Given the description of an element on the screen output the (x, y) to click on. 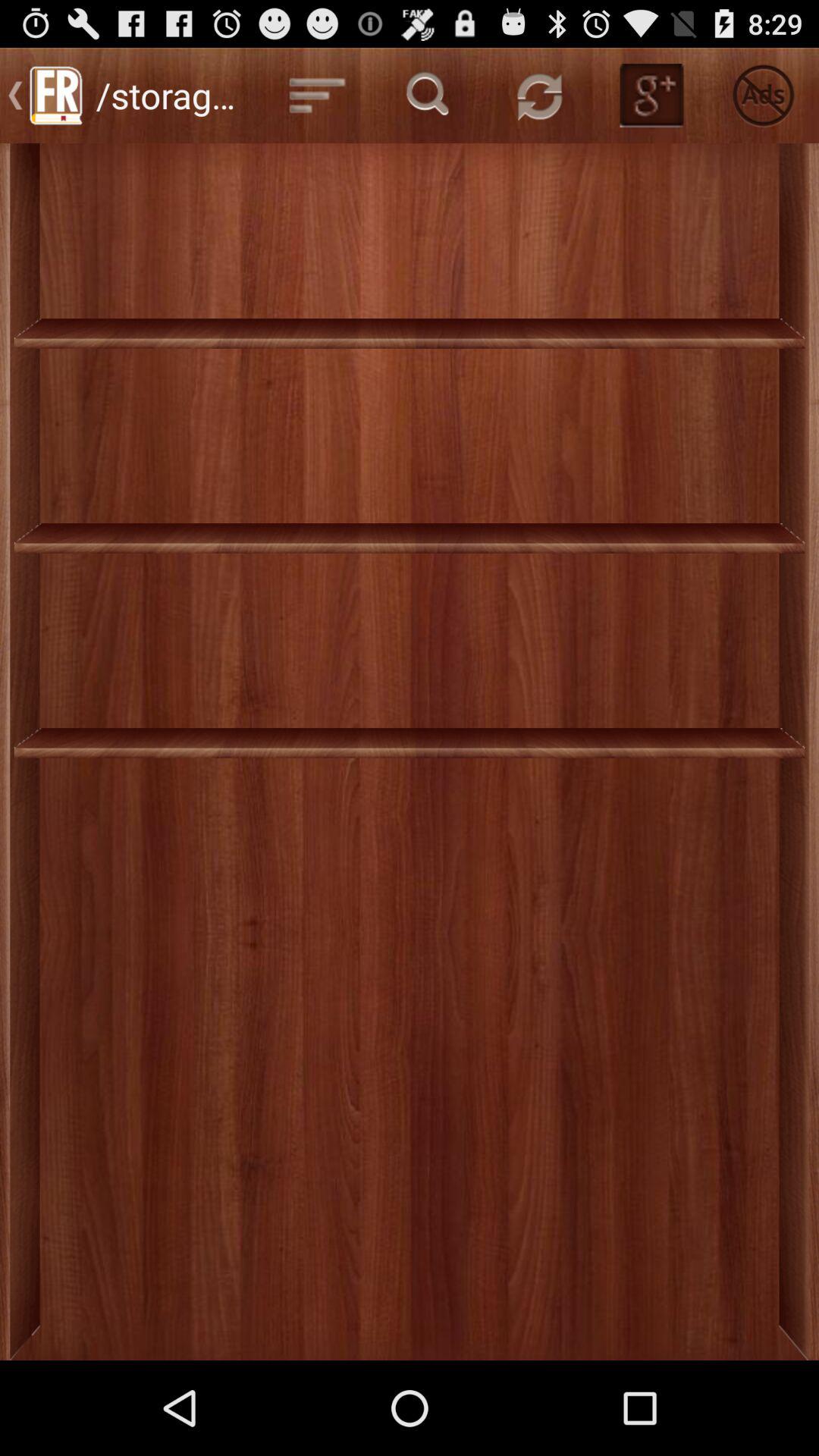
click on reload icon (540, 95)
select search button (428, 95)
click on no ads icon (763, 95)
the first button beside storage (317, 95)
select g button at the top of the page (651, 95)
select the icon which is left side of the storag (55, 95)
click on the icon at the top right corner of the page (763, 95)
